Given the description of an element on the screen output the (x, y) to click on. 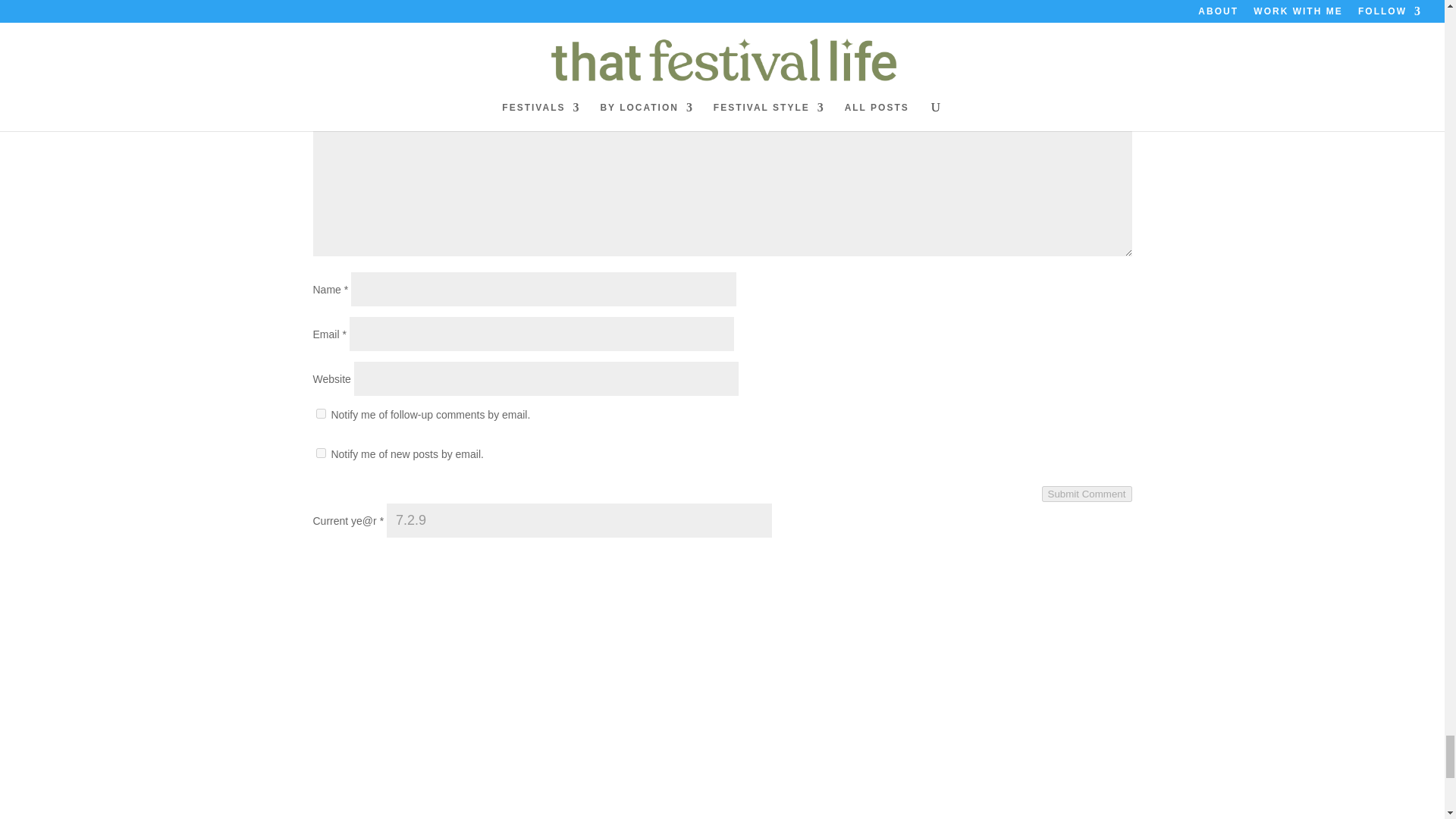
subscribe (319, 452)
7.2.9 (579, 520)
subscribe (319, 413)
